Given the description of an element on the screen output the (x, y) to click on. 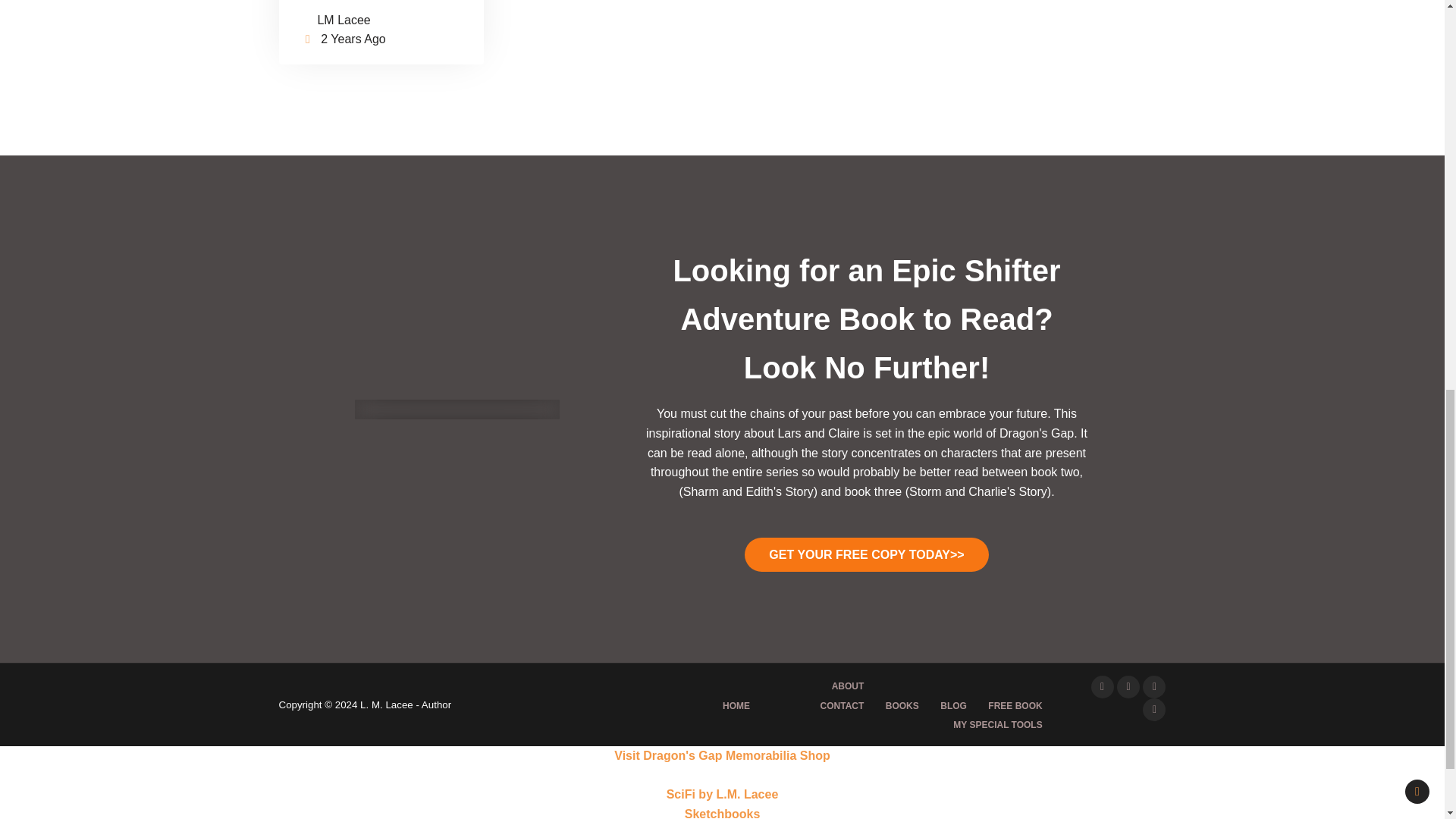
2 Years Ago (352, 38)
MY SPECIAL TOOLS (997, 724)
SciFi by L.M. Lacee (722, 793)
HOME (735, 706)
Sketchbooks (722, 813)
CONTACT (841, 706)
ABOUT (847, 685)
Visit Dragon's Gap Memorabilia Shop (721, 755)
FREE BOOK (1014, 706)
BOOKS (902, 706)
